Given the description of an element on the screen output the (x, y) to click on. 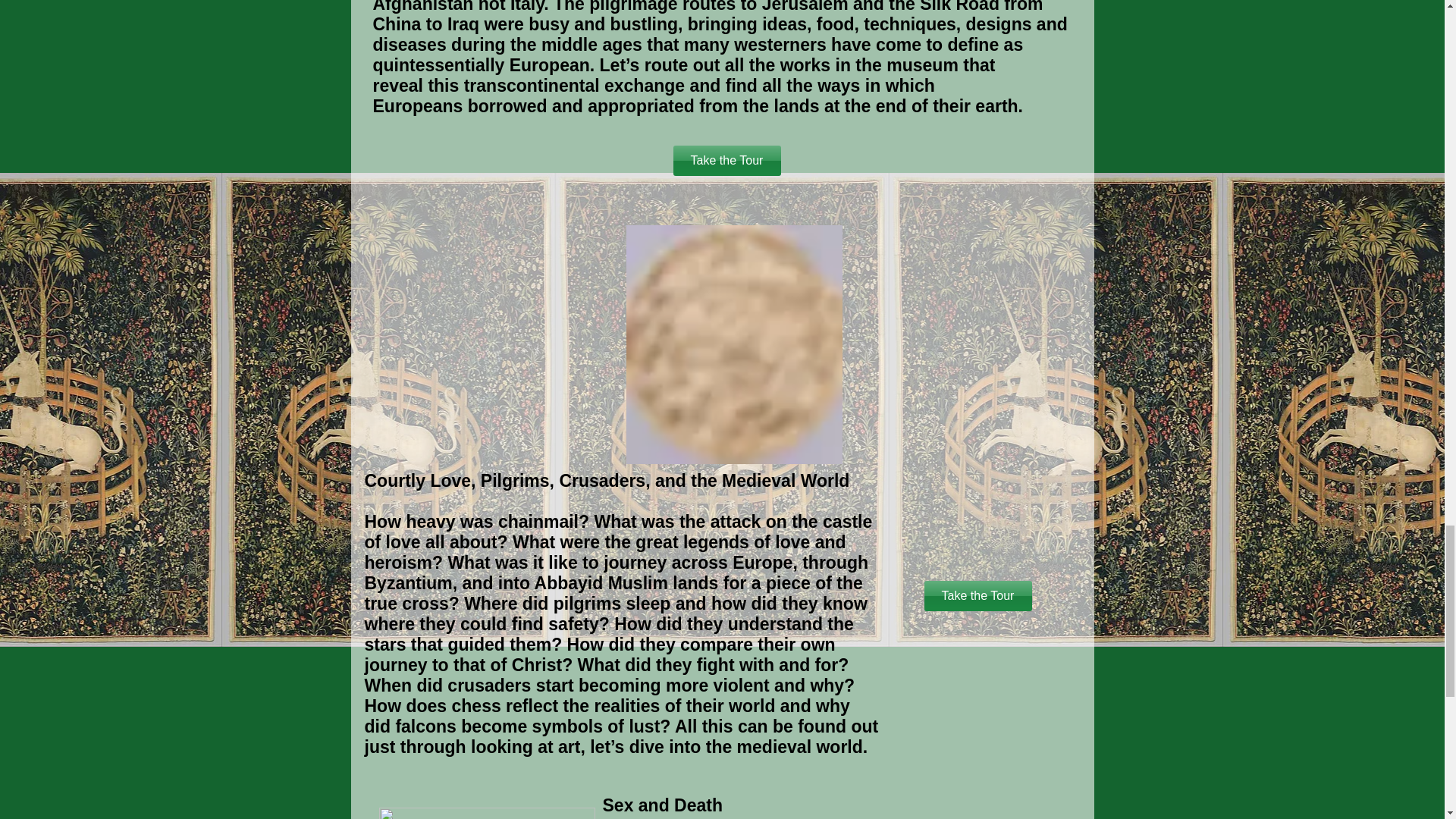
Take the Tour (726, 160)
Take the Tour (976, 595)
